Given the description of an element on the screen output the (x, y) to click on. 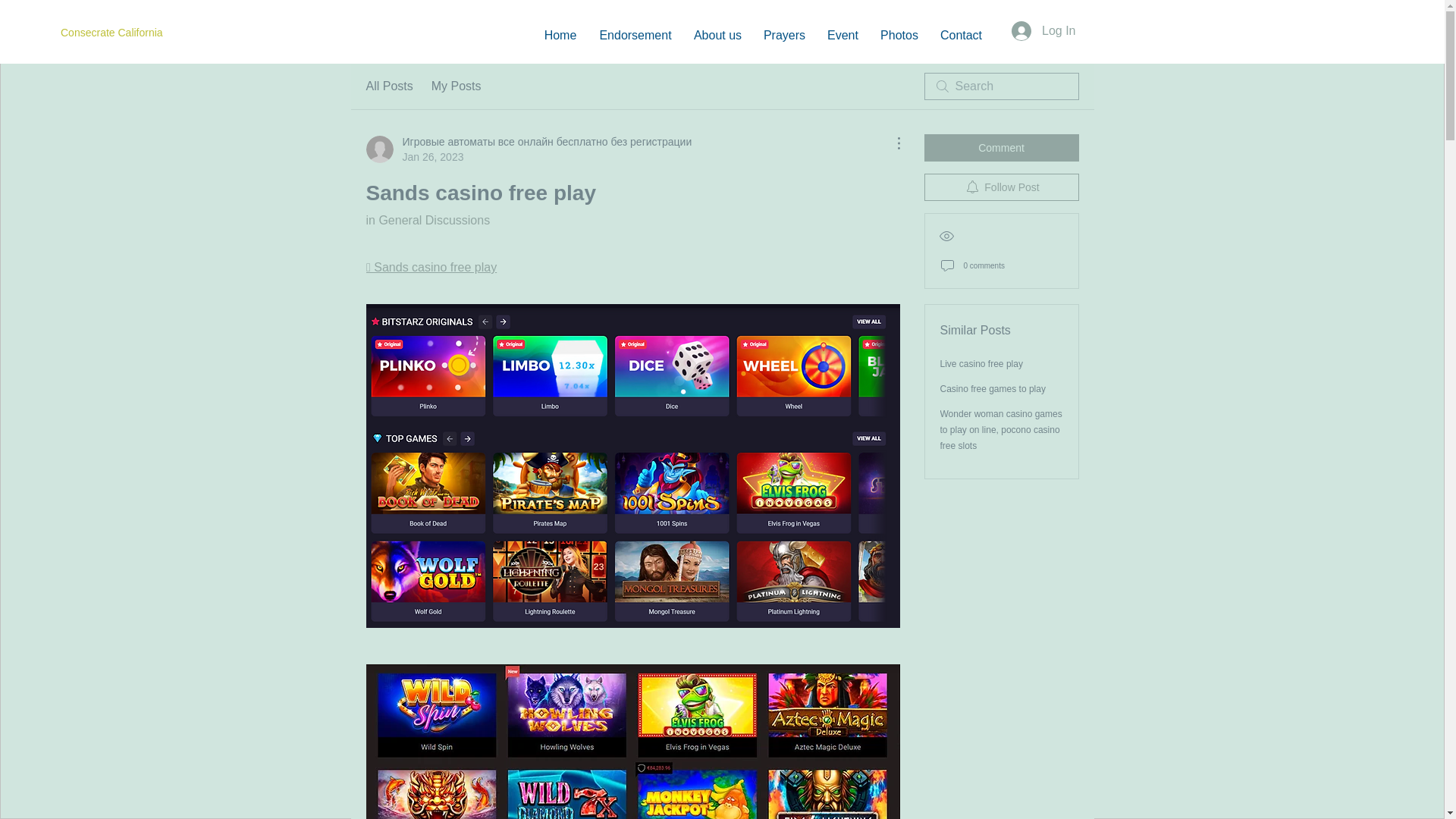
Event (842, 35)
Home (560, 35)
Endorsement (635, 35)
My Posts (455, 85)
Casino free games to play (992, 388)
Prayers (783, 35)
Follow Post (1000, 186)
About us (717, 35)
in General Discussions (427, 219)
